Given the description of an element on the screen output the (x, y) to click on. 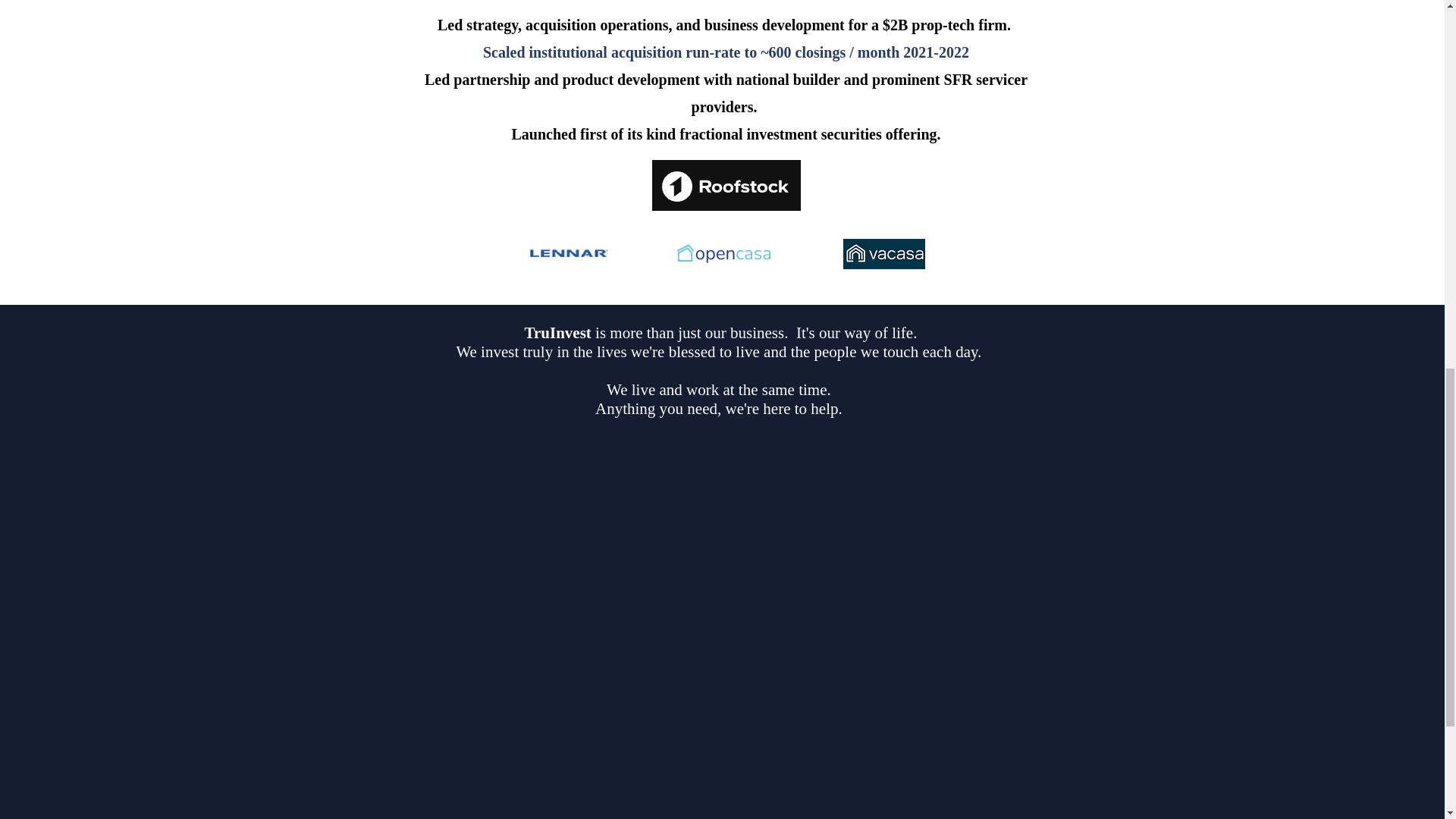
Screen Shot 2024-06-26 at 9.12.50 PM.png (726, 184)
